Given the description of an element on the screen output the (x, y) to click on. 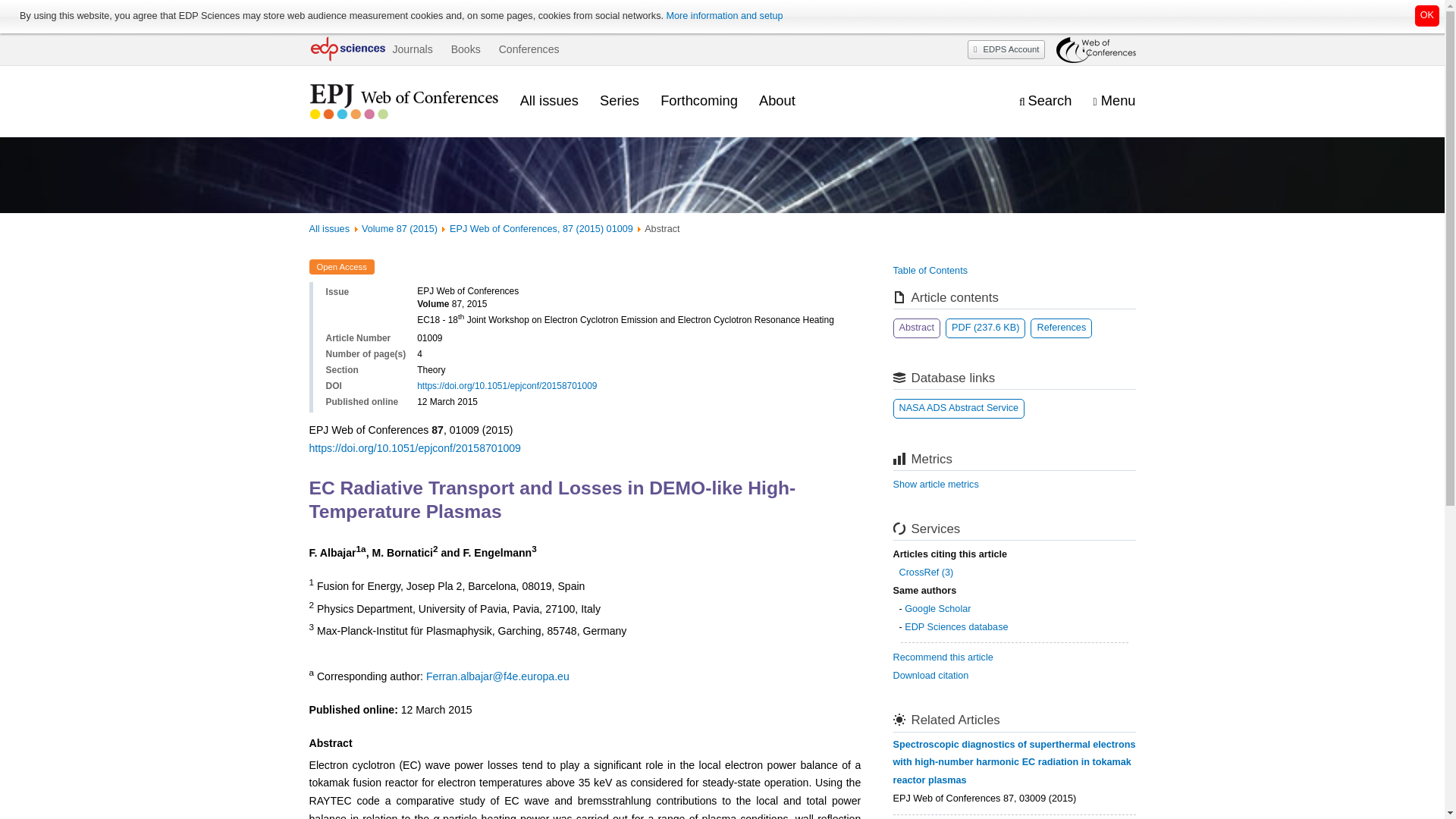
Display the search engine (1045, 101)
Books (465, 49)
Abstract (916, 328)
Journals (411, 49)
Journal homepage (403, 101)
OK (1427, 15)
More information and setup (724, 15)
Click to close this notification (1427, 15)
Conferences (529, 49)
